Given the description of an element on the screen output the (x, y) to click on. 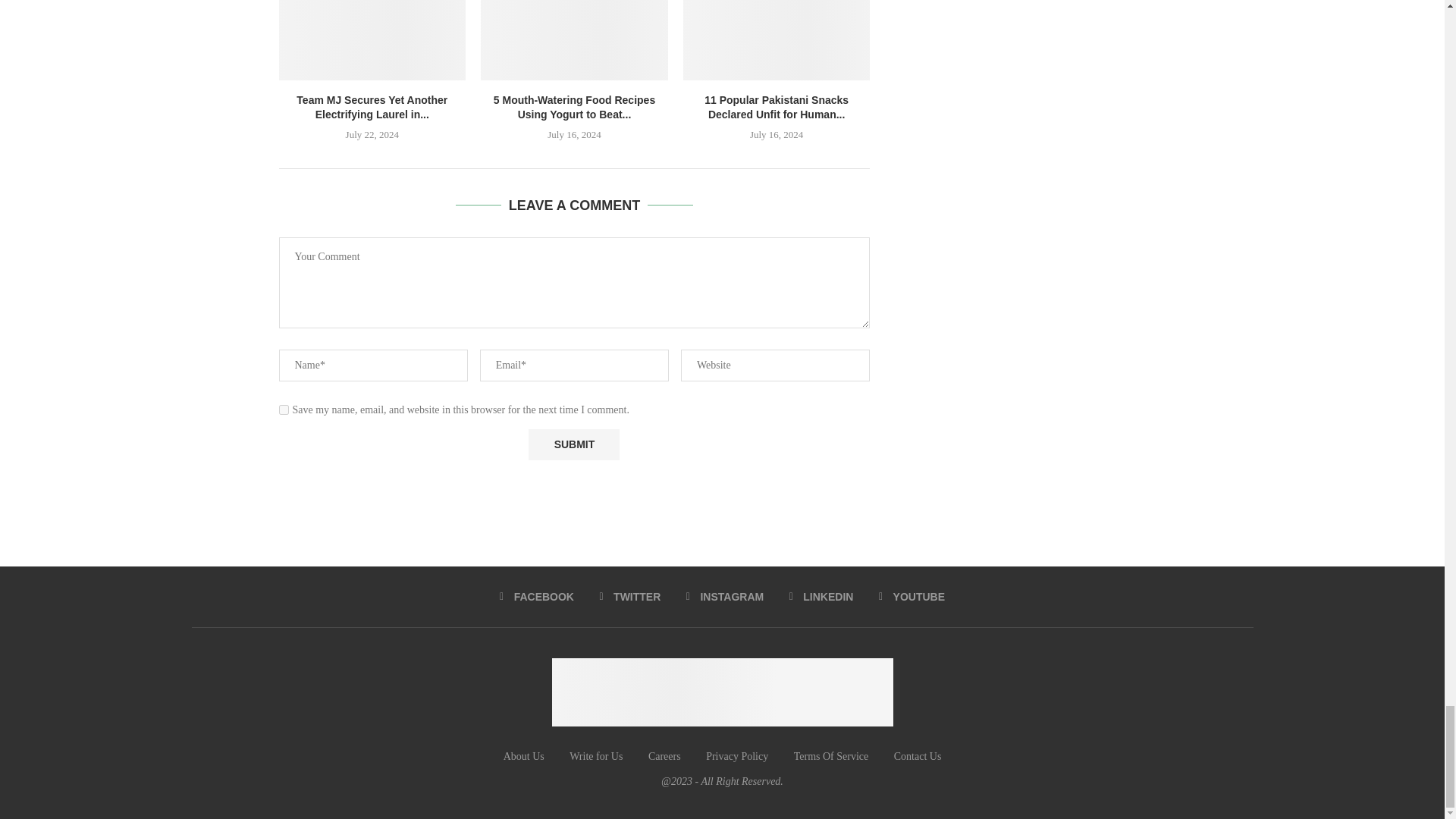
Submit (574, 444)
5 Mouth-Watering Food Recipes Using Yogurt to Beat the Heat (574, 39)
yes (283, 409)
